Given the description of an element on the screen output the (x, y) to click on. 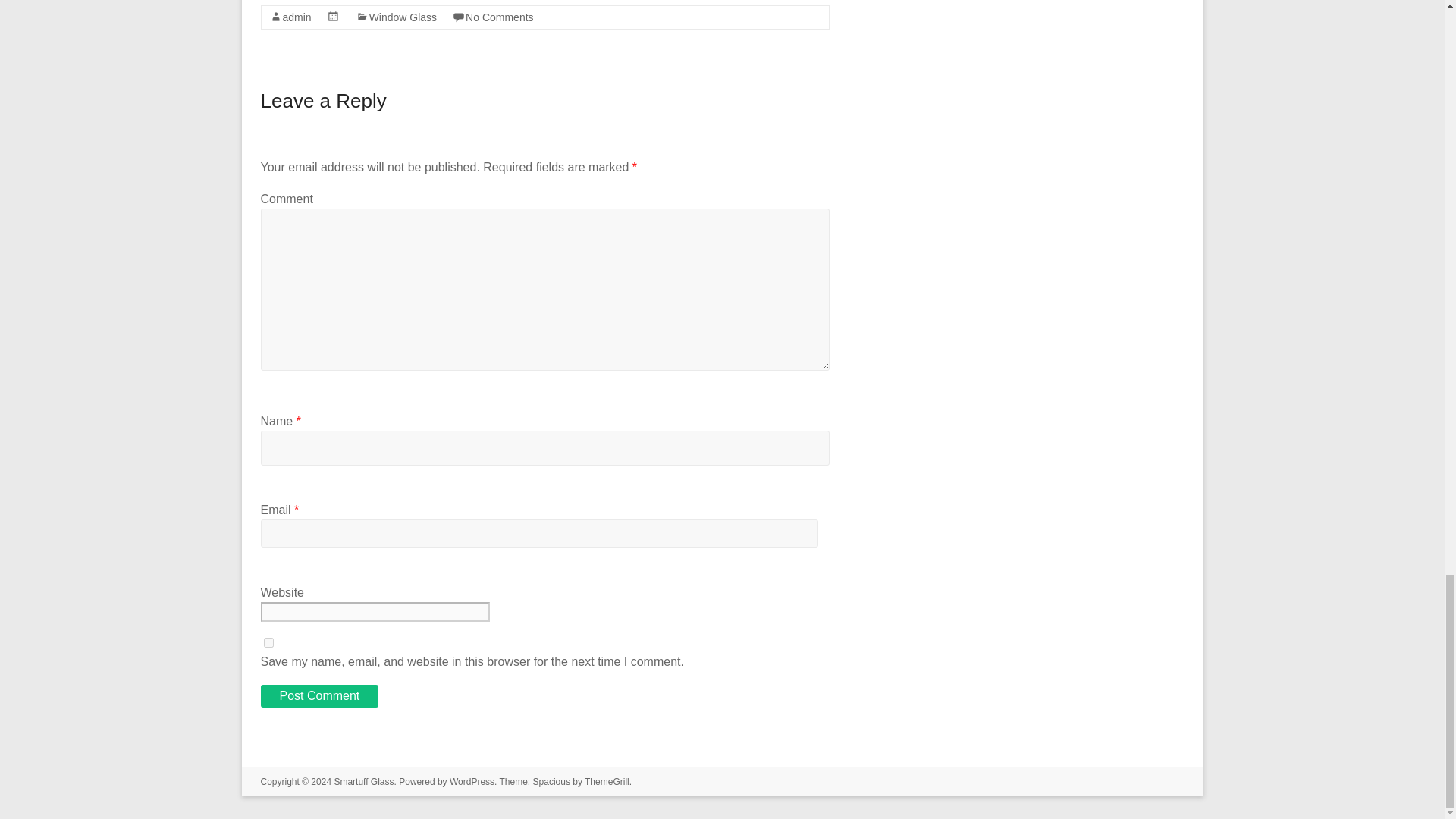
Window Glass (402, 17)
Smartuff Glass (363, 781)
WordPress (472, 781)
yes (268, 642)
WordPress (472, 781)
ThemeGrill (606, 781)
Post Comment (319, 695)
ThemeGrill (606, 781)
Post Comment (319, 695)
Smartuff Glass (363, 781)
admin (296, 17)
No Comments (498, 17)
